Given the description of an element on the screen output the (x, y) to click on. 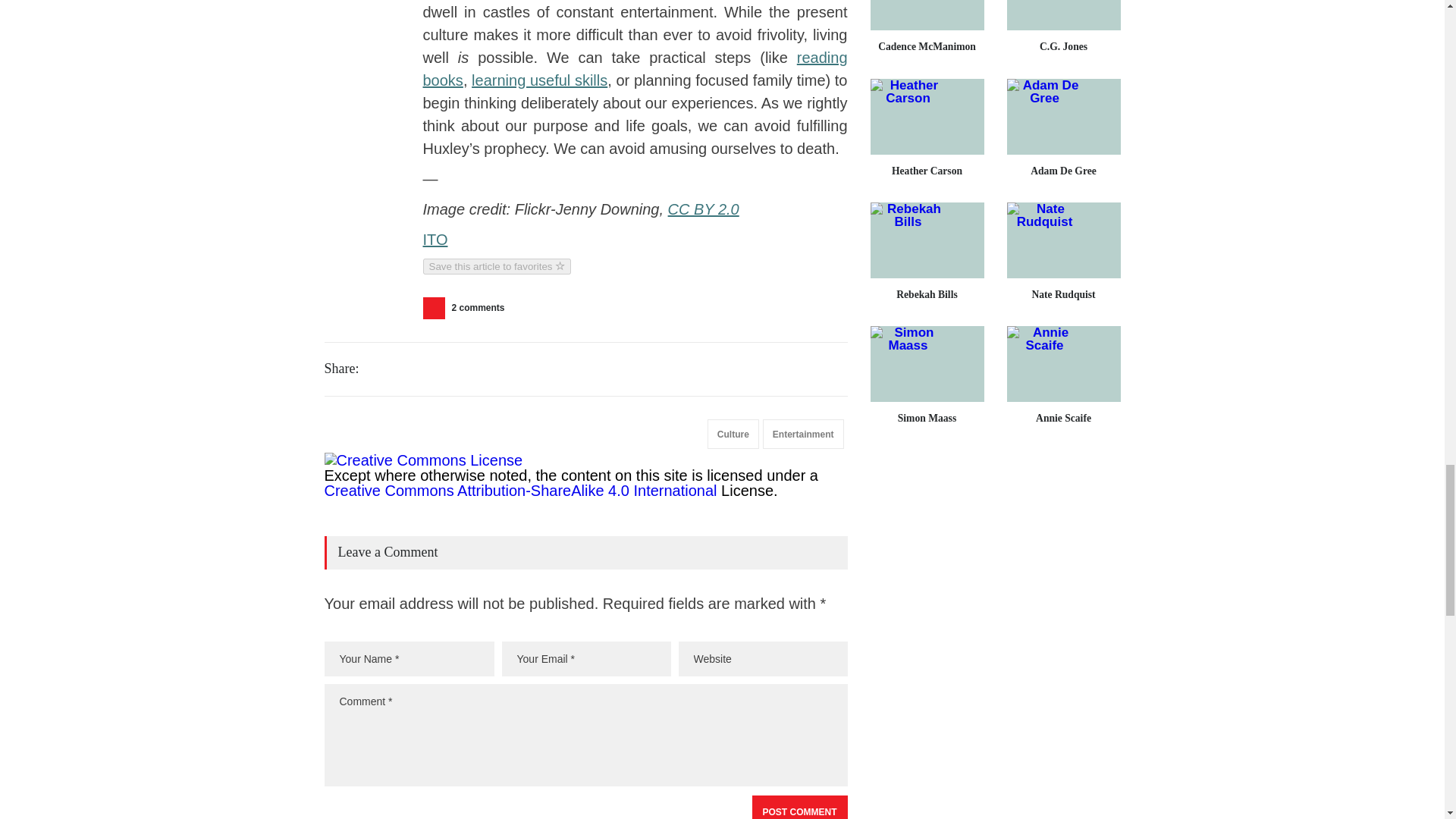
Website (762, 658)
2 comments (468, 308)
POST COMMENT (799, 807)
